Given the description of an element on the screen output the (x, y) to click on. 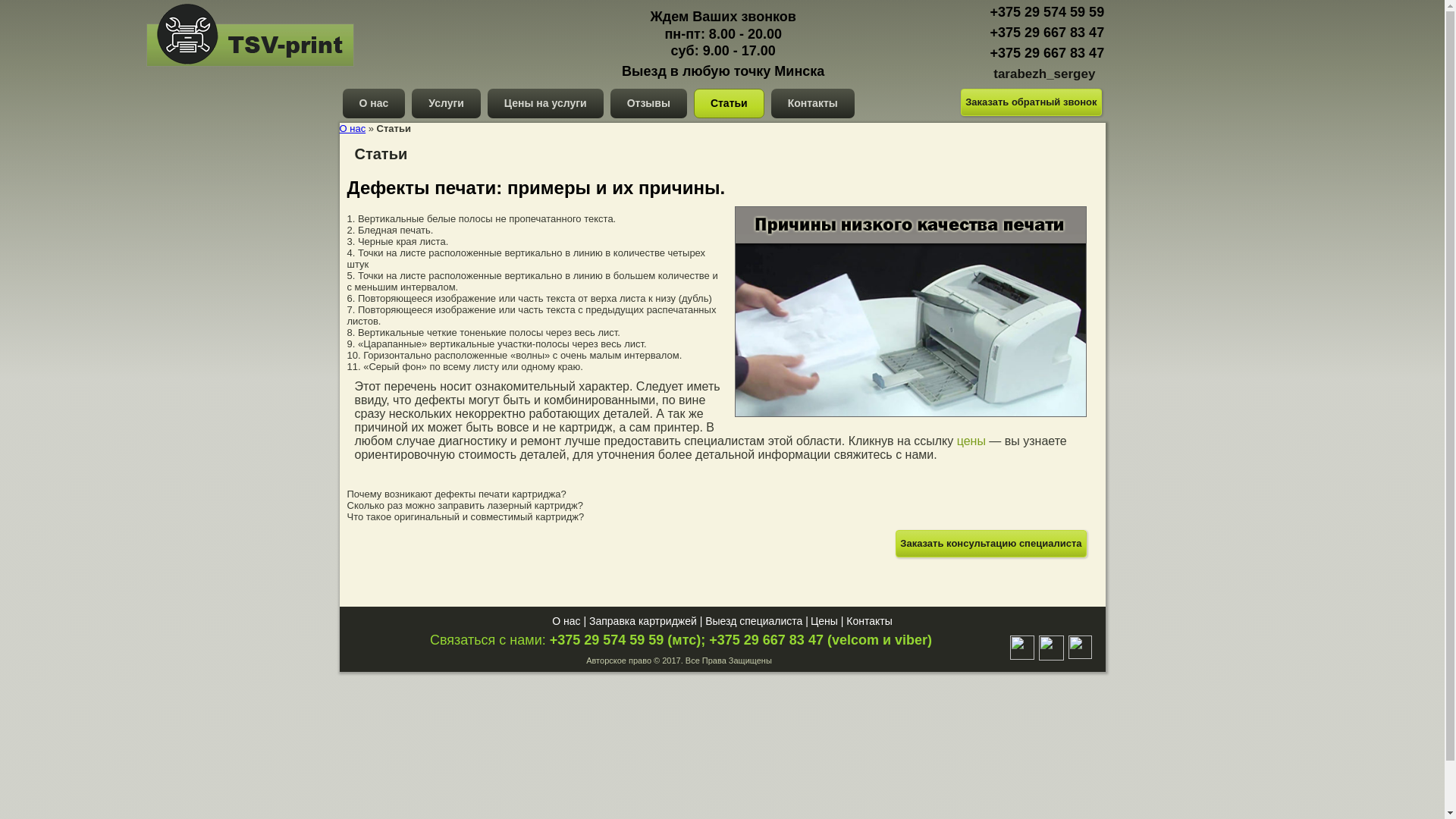
tsv-print.by Element type: hover (207, 70)
